Given the description of an element on the screen output the (x, y) to click on. 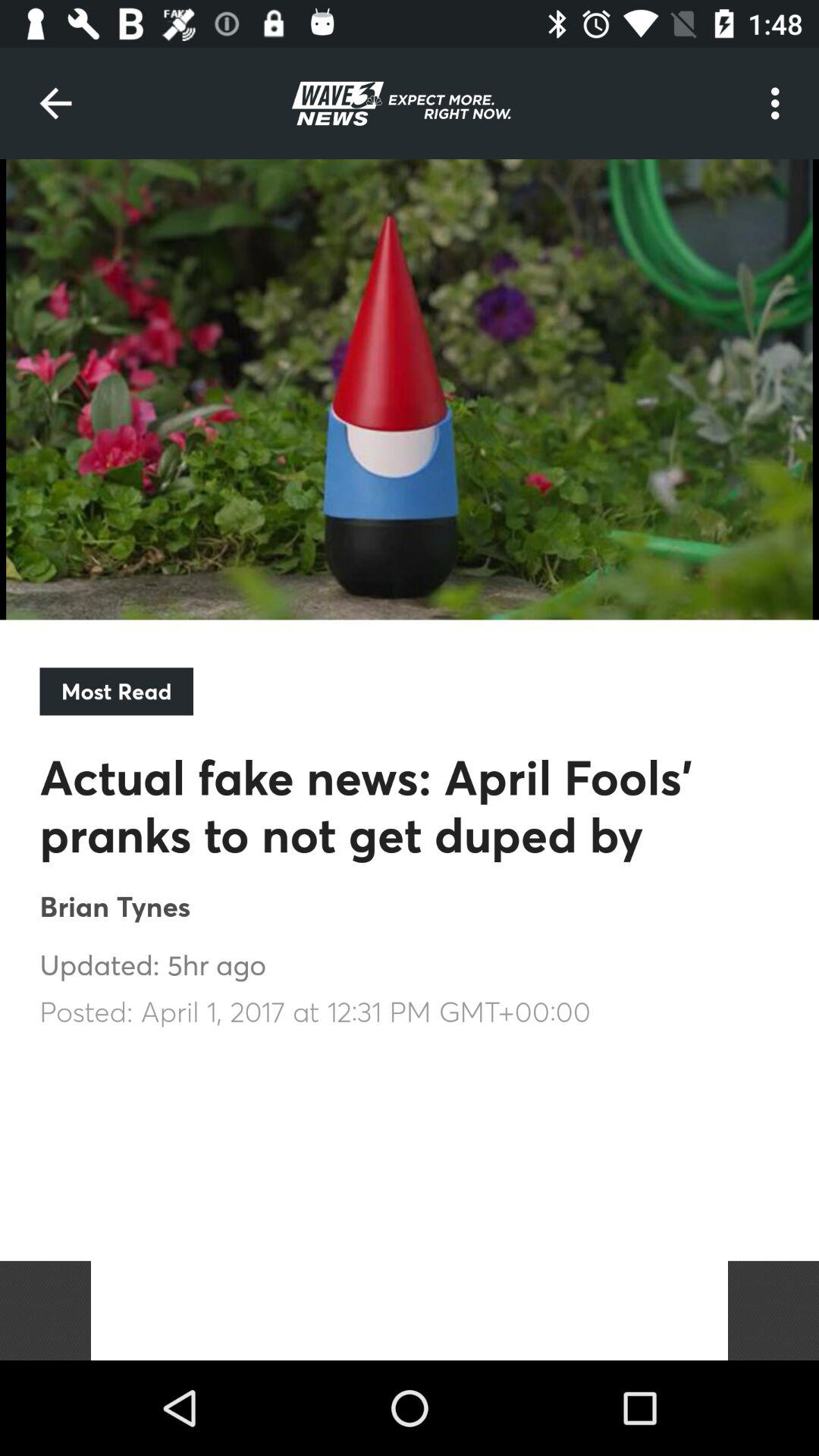
swipe until the most read item (116, 691)
